Given the description of an element on the screen output the (x, y) to click on. 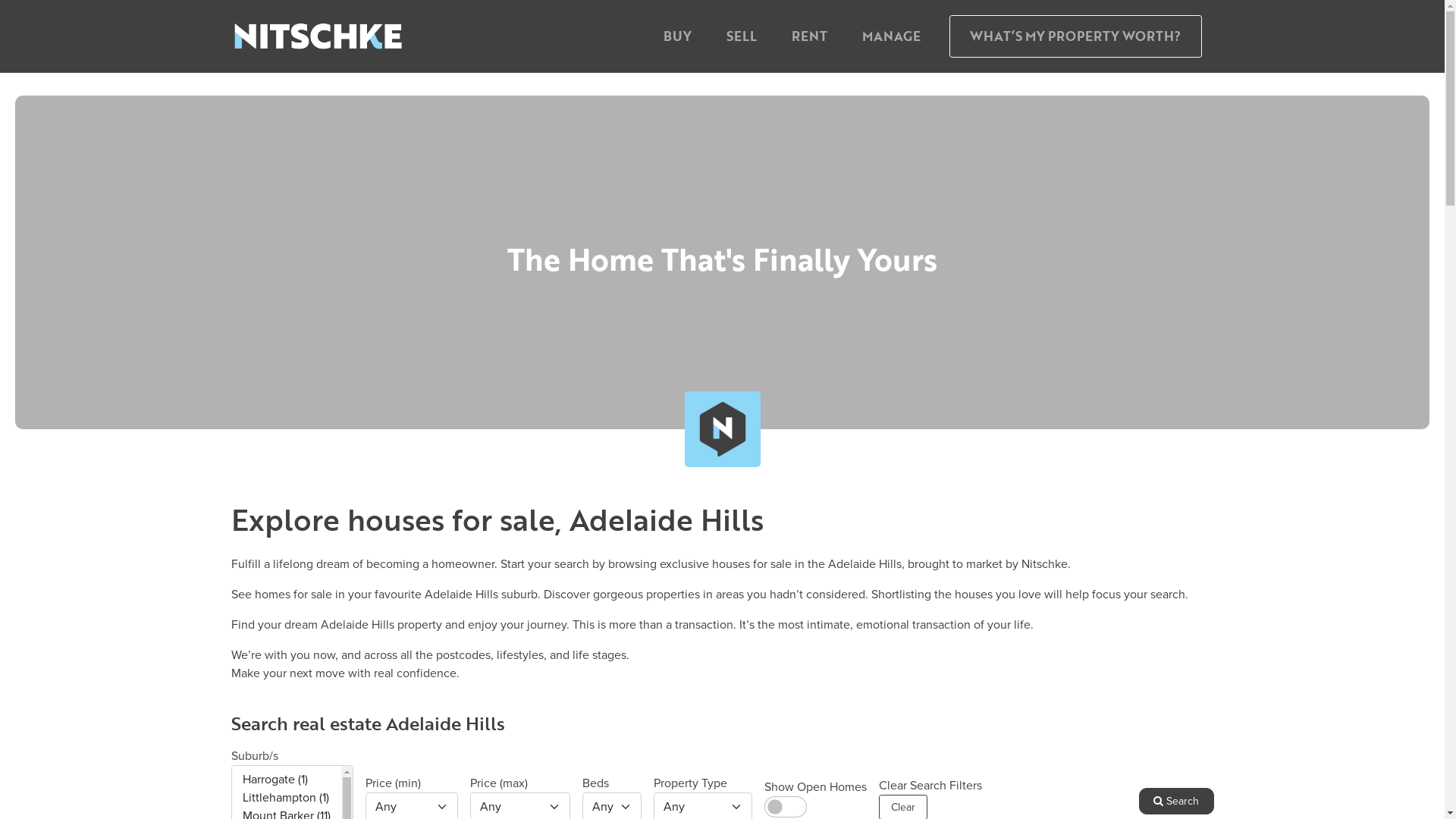
RENT Element type: text (809, 36)
Search Element type: text (1176, 800)
BUY Element type: text (677, 36)
SELL Element type: text (741, 36)
MANAGE Element type: text (891, 36)
